Given the description of an element on the screen output the (x, y) to click on. 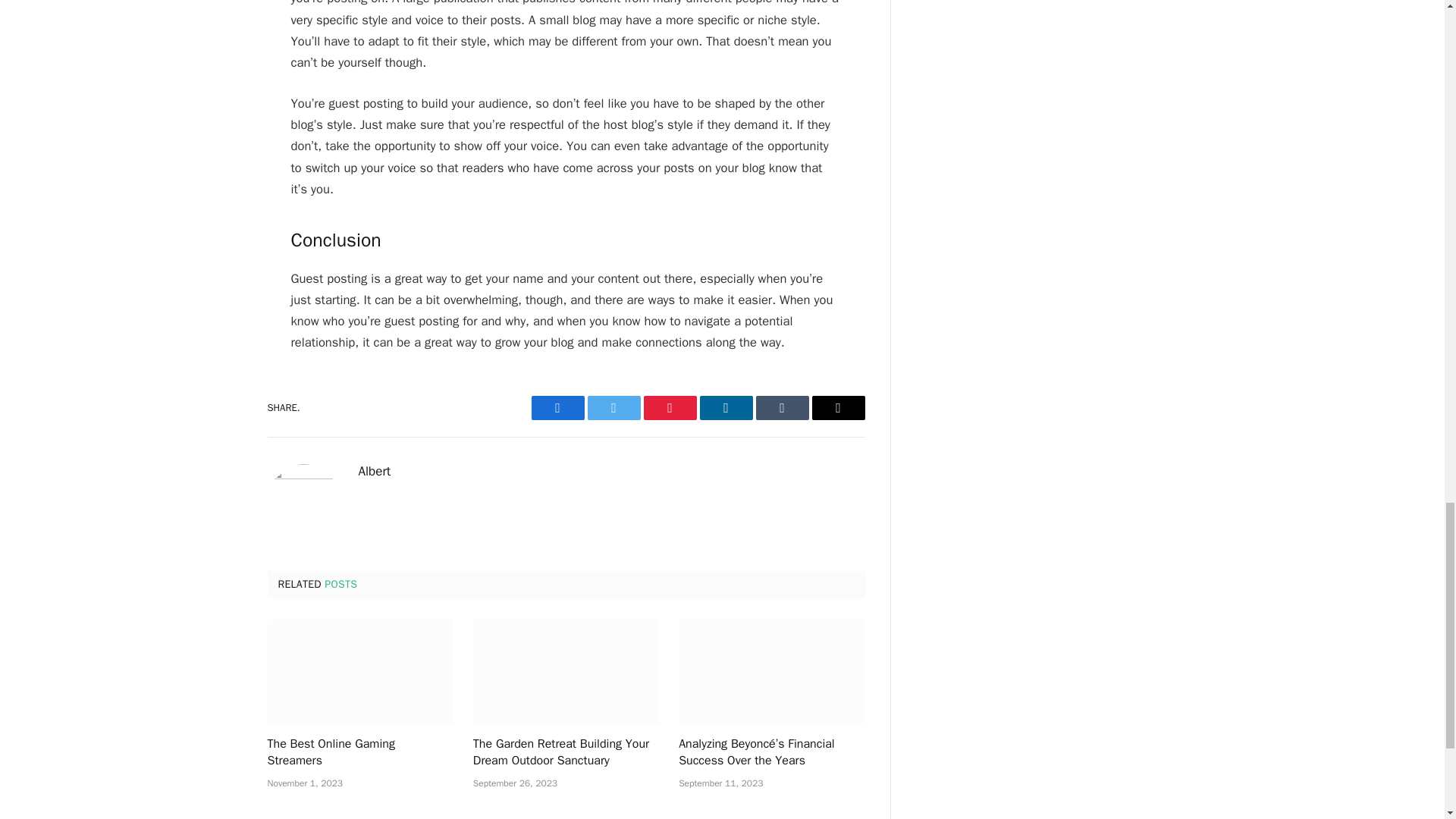
Facebook (557, 407)
Twitter (613, 407)
Pinterest (669, 407)
